Given the description of an element on the screen output the (x, y) to click on. 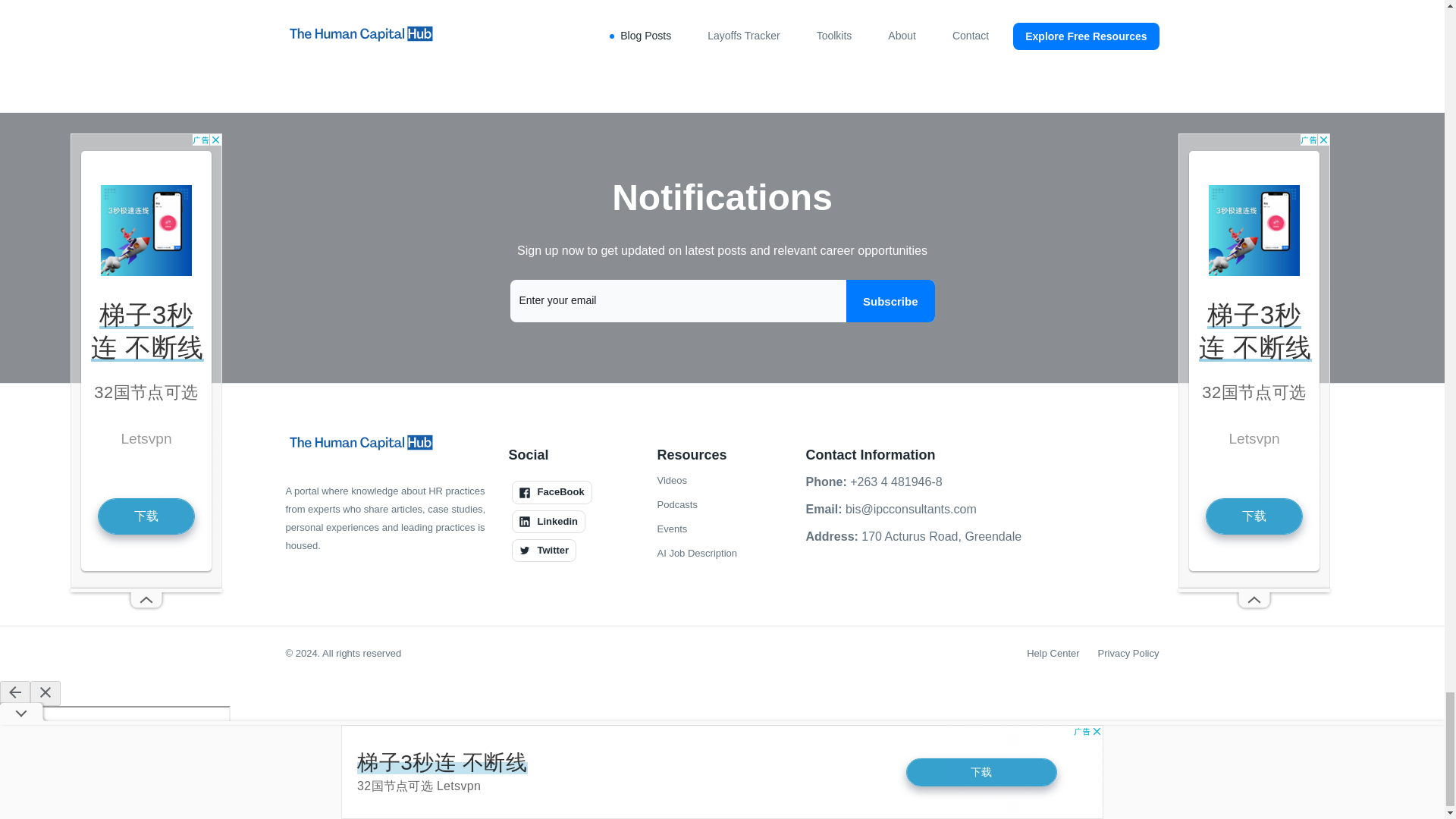
Podcasts (676, 505)
Subscribe (889, 301)
FaceBook (551, 491)
Events (671, 529)
Privacy Policy (1127, 653)
AI Job Description (696, 553)
Linkedin (548, 521)
Twitter (543, 549)
Help Center (1052, 653)
Videos (671, 480)
